Given the description of an element on the screen output the (x, y) to click on. 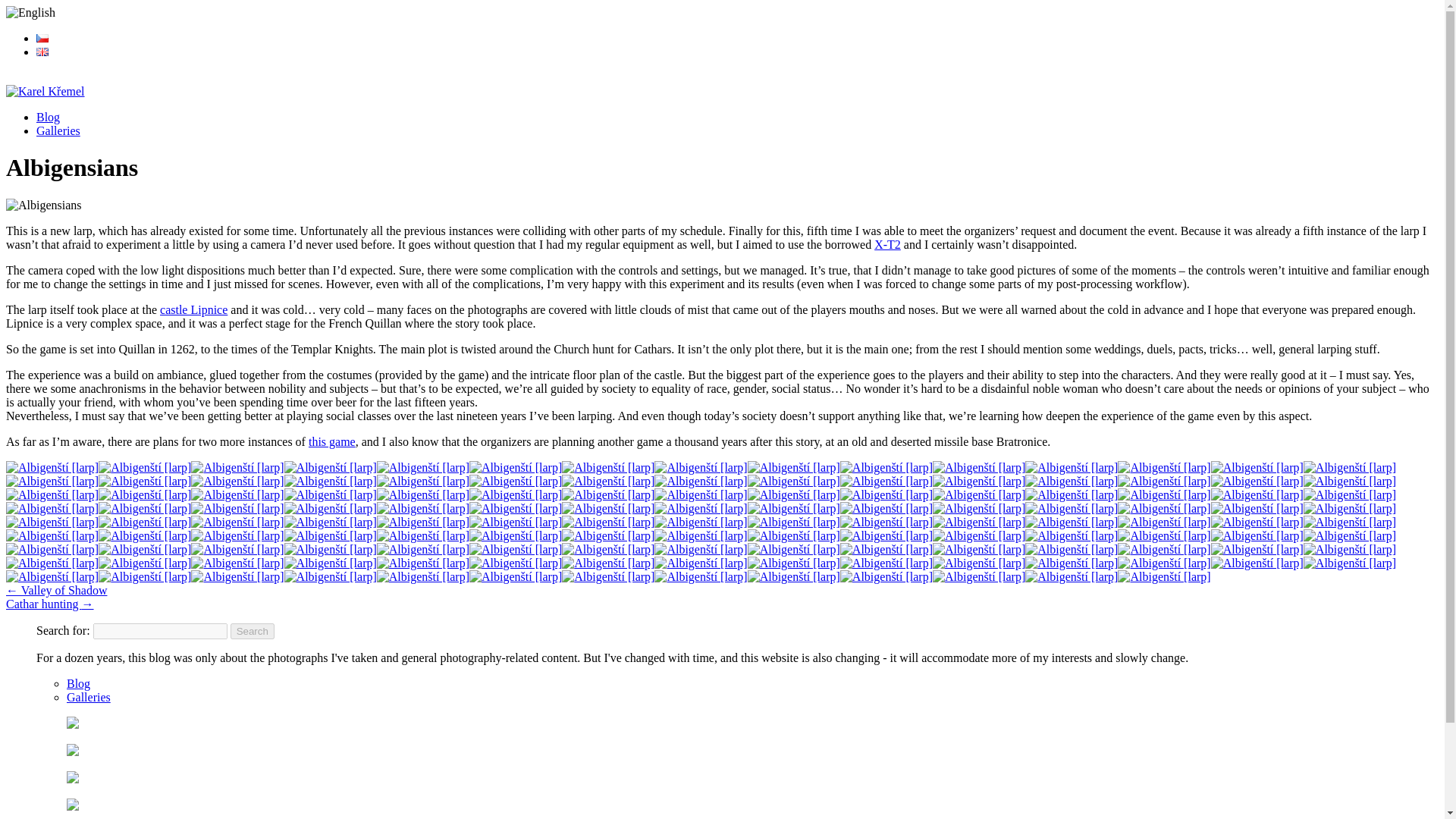
X-T2 (888, 244)
Galleries (58, 130)
this game (331, 440)
Search (252, 631)
castle Lipnice (193, 309)
Blog (47, 116)
English (30, 12)
